Given the description of an element on the screen output the (x, y) to click on. 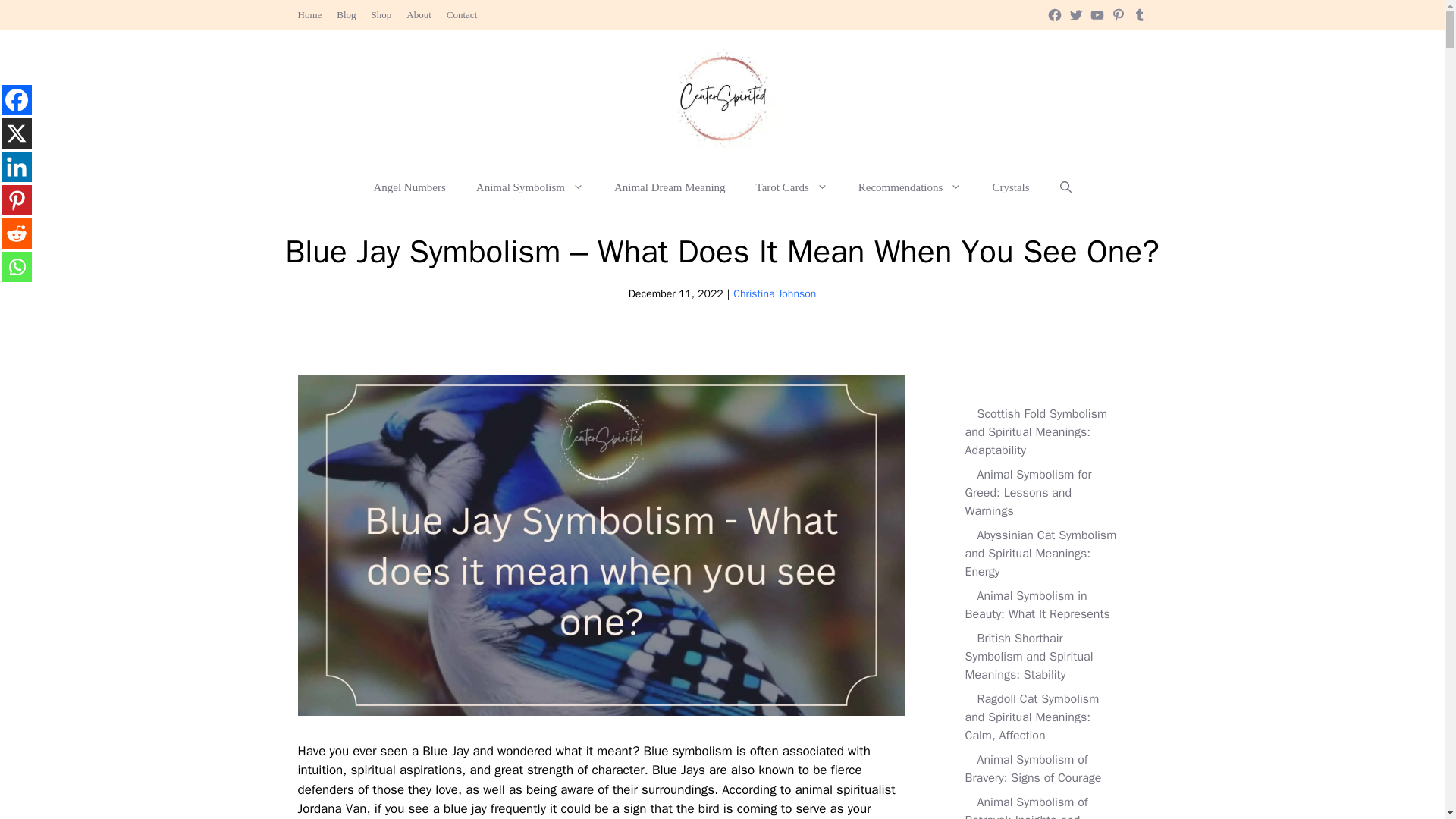
Animal Dream Meaning (669, 186)
YouTube (1096, 14)
Blog (345, 14)
Contact (461, 14)
Tumblr (1139, 14)
Christina Johnson (774, 293)
Shop (381, 14)
Angel Numbers (409, 186)
Facebook (1053, 14)
Crystals (1009, 186)
